Given the description of an element on the screen output the (x, y) to click on. 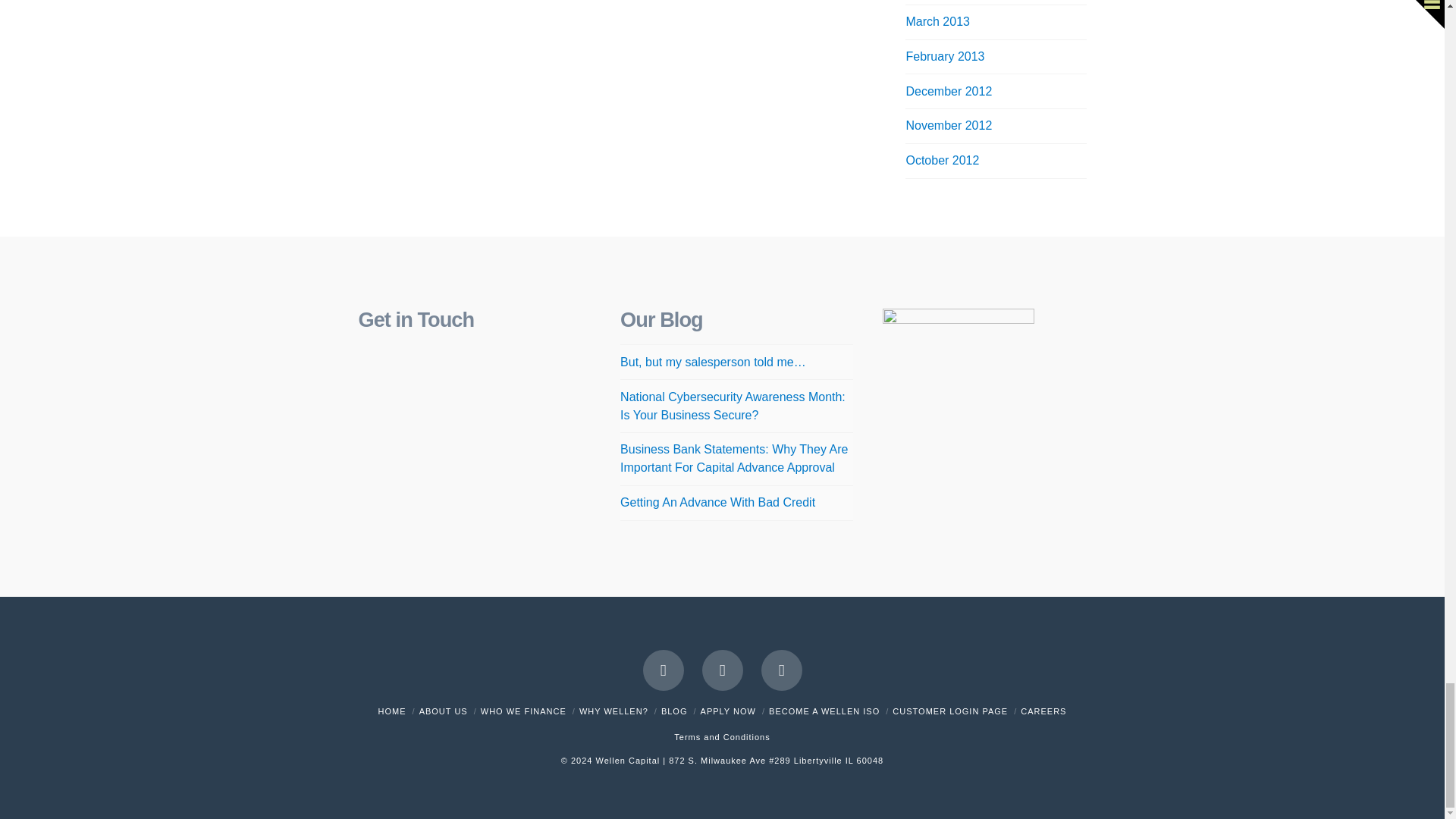
LinkedIn (781, 670)
Facebook (663, 670)
